Given the description of an element on the screen output the (x, y) to click on. 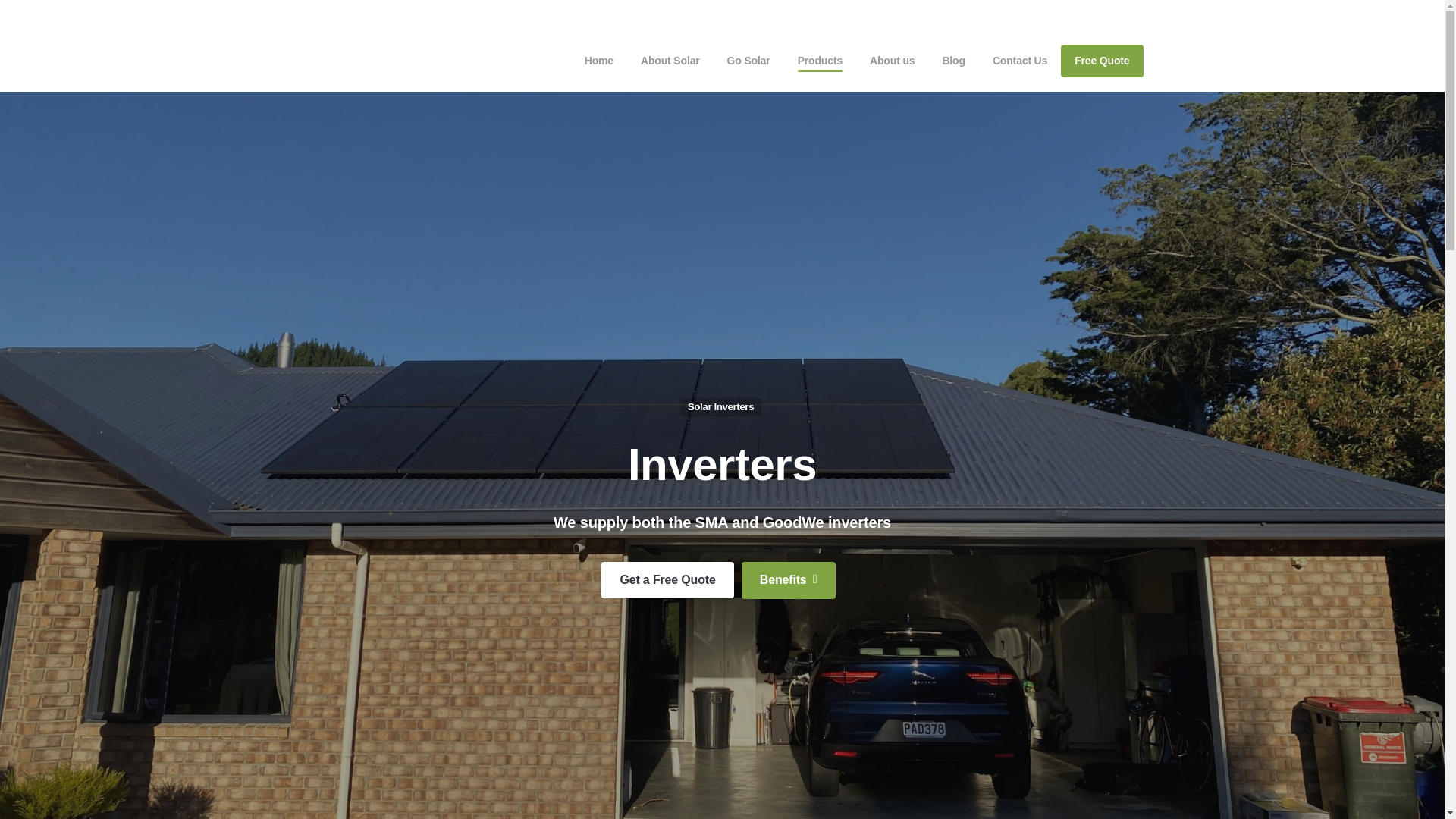
Benefits (788, 579)
Products (820, 60)
Go Solar (748, 60)
Home (599, 60)
About Solar (670, 60)
Are you building a new home? (396, 15)
Instagram (1047, 15)
Blog (953, 60)
0508 3267 6527 (1100, 14)
Get a Free Quote (667, 579)
